Given the description of an element on the screen output the (x, y) to click on. 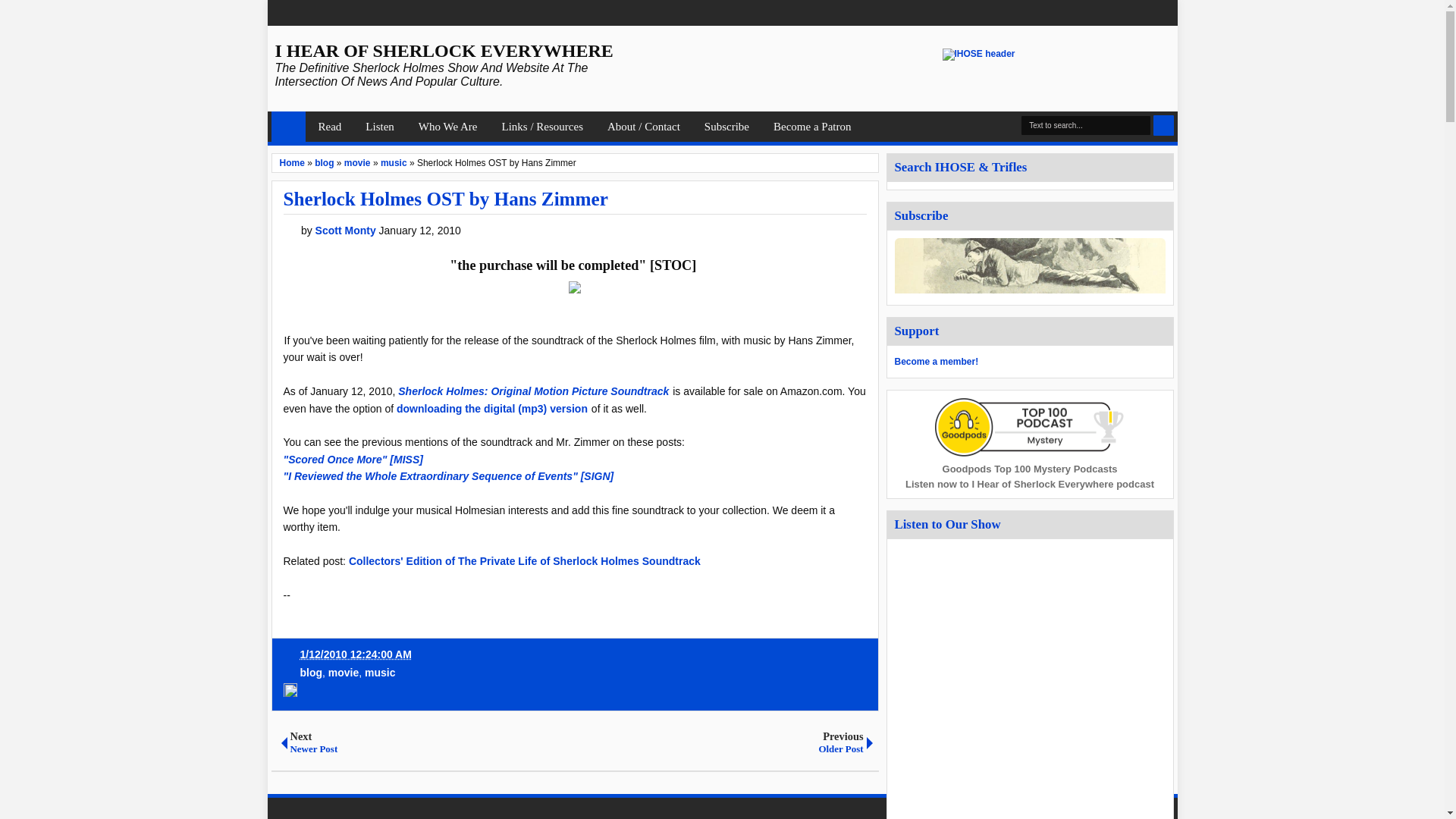
author profile (346, 230)
movie (357, 163)
Sherlock Holmes: Original Motion Picture Soundtrack (532, 390)
Sherlock Holmes OST by Hans Zimmer (445, 199)
Search (1163, 125)
RSS (1165, 13)
Threads (1144, 13)
2010-01-12T00:24:00-05:00 (355, 654)
permanent link (574, 655)
Home (287, 126)
Edit Post (290, 694)
Newer Post (425, 742)
Scott Monty (346, 230)
Read (328, 126)
Older Post (726, 742)
